Given the description of an element on the screen output the (x, y) to click on. 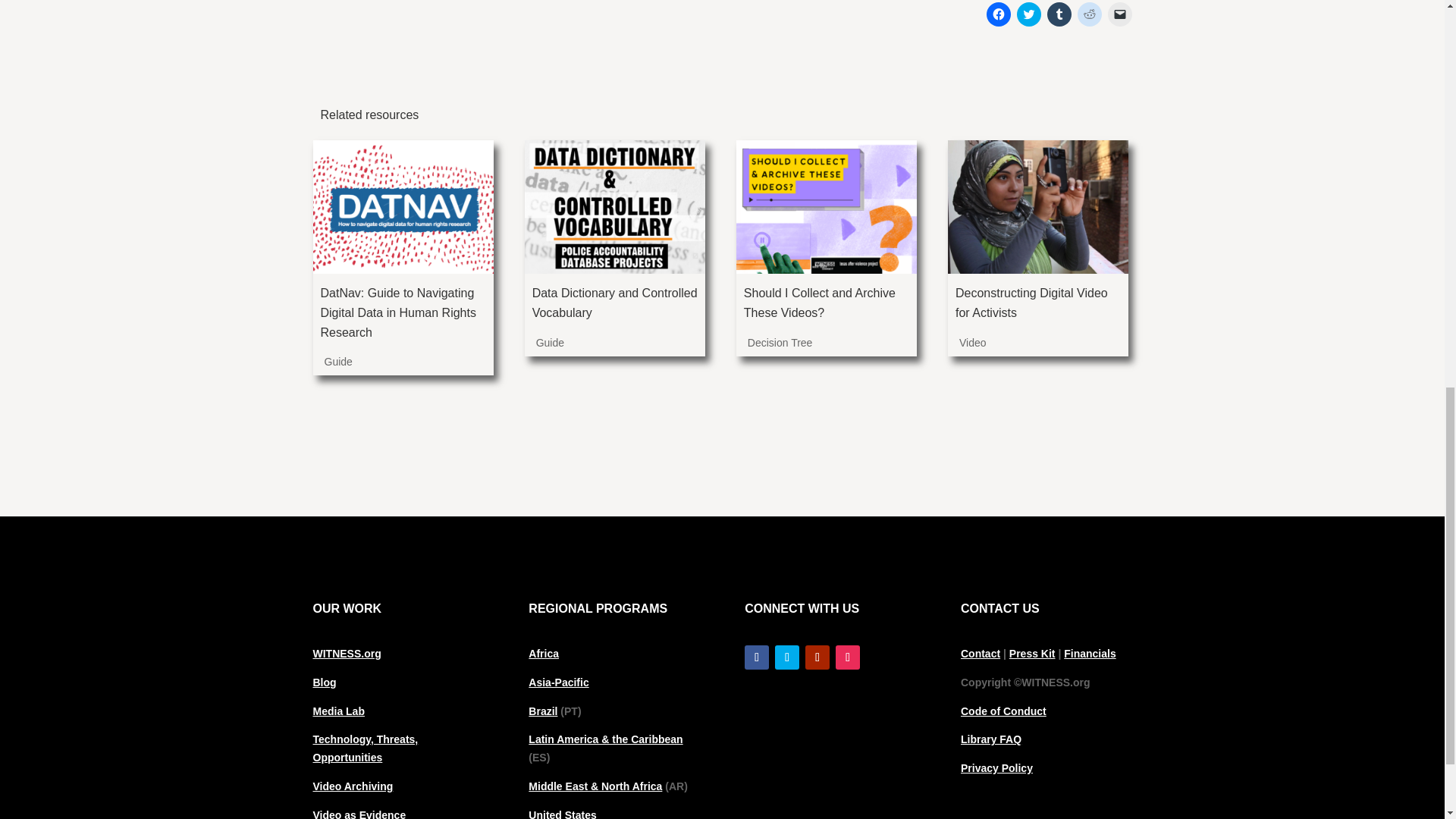
Click to share on Tumblr (1058, 14)
Click to share on Reddit (1089, 14)
Click to email a link to a friend (1120, 14)
Click to share on Facebook (998, 14)
Click to share on Twitter (1028, 14)
